Given the description of an element on the screen output the (x, y) to click on. 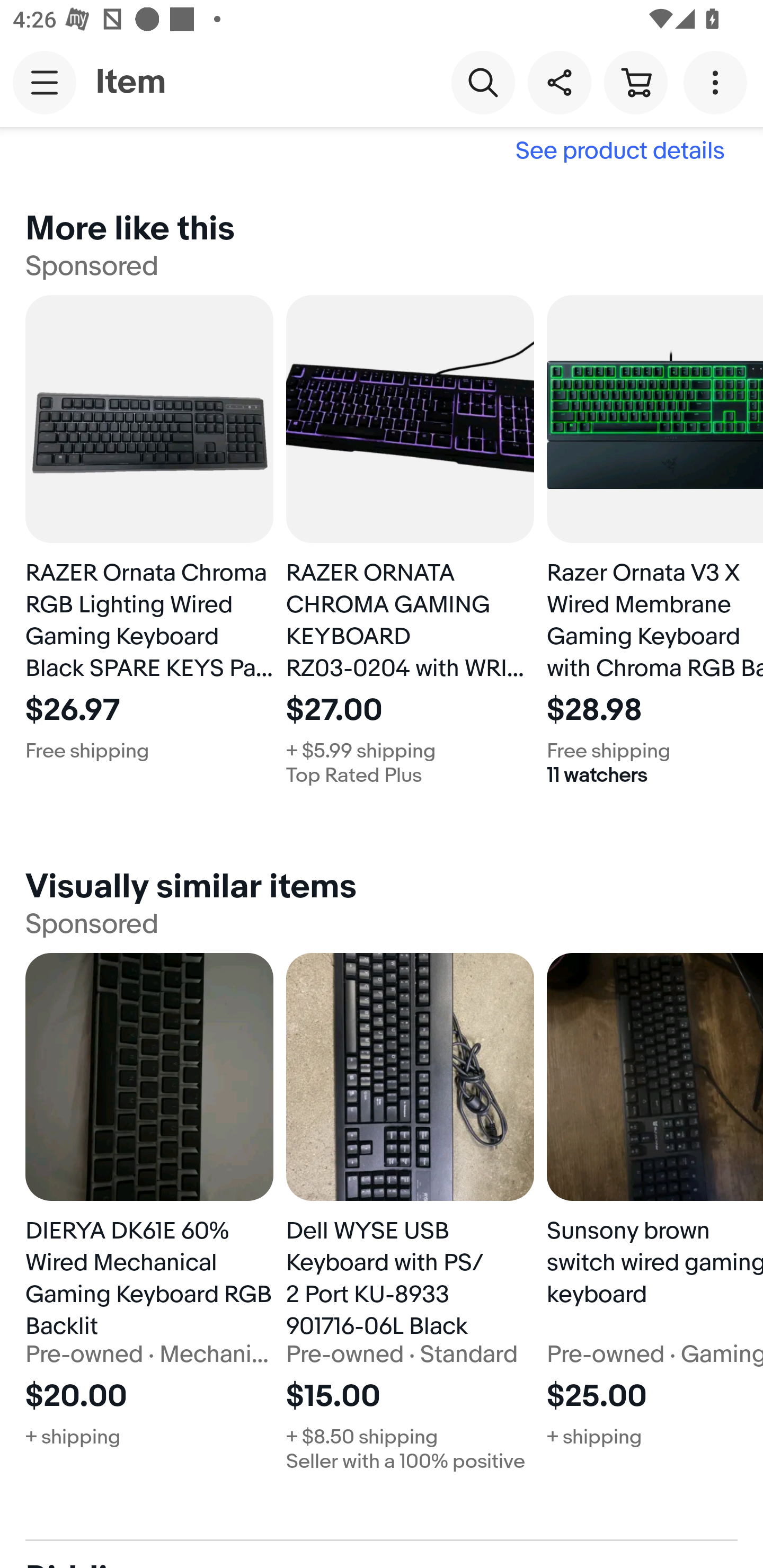
Main navigation, open (44, 82)
Search (482, 81)
Share this item (559, 81)
Cart button shopping cart (635, 81)
More options (718, 81)
See product details (381, 149)
